Given the description of an element on the screen output the (x, y) to click on. 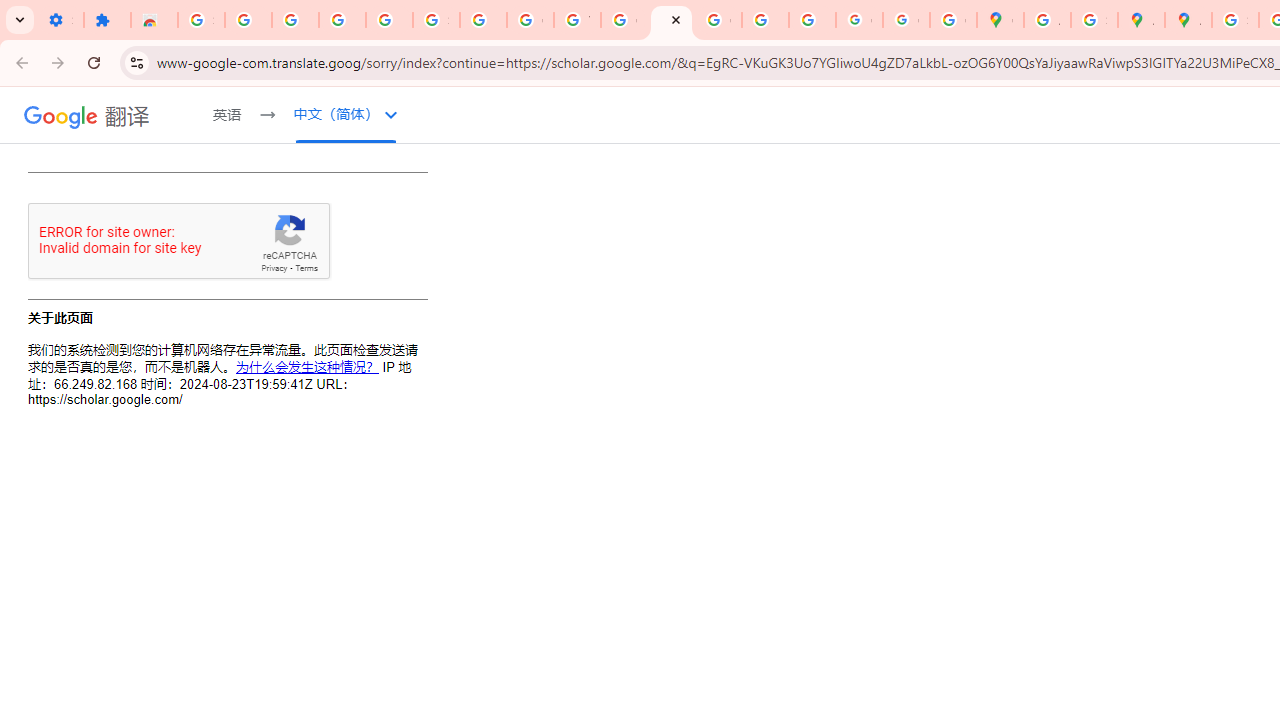
Learn how to find your photos - Google Photos Help (342, 20)
Extensions (107, 20)
Google Maps (999, 20)
Delete photos & videos - Computer - Google Photos Help (294, 20)
